Given the description of an element on the screen output the (x, y) to click on. 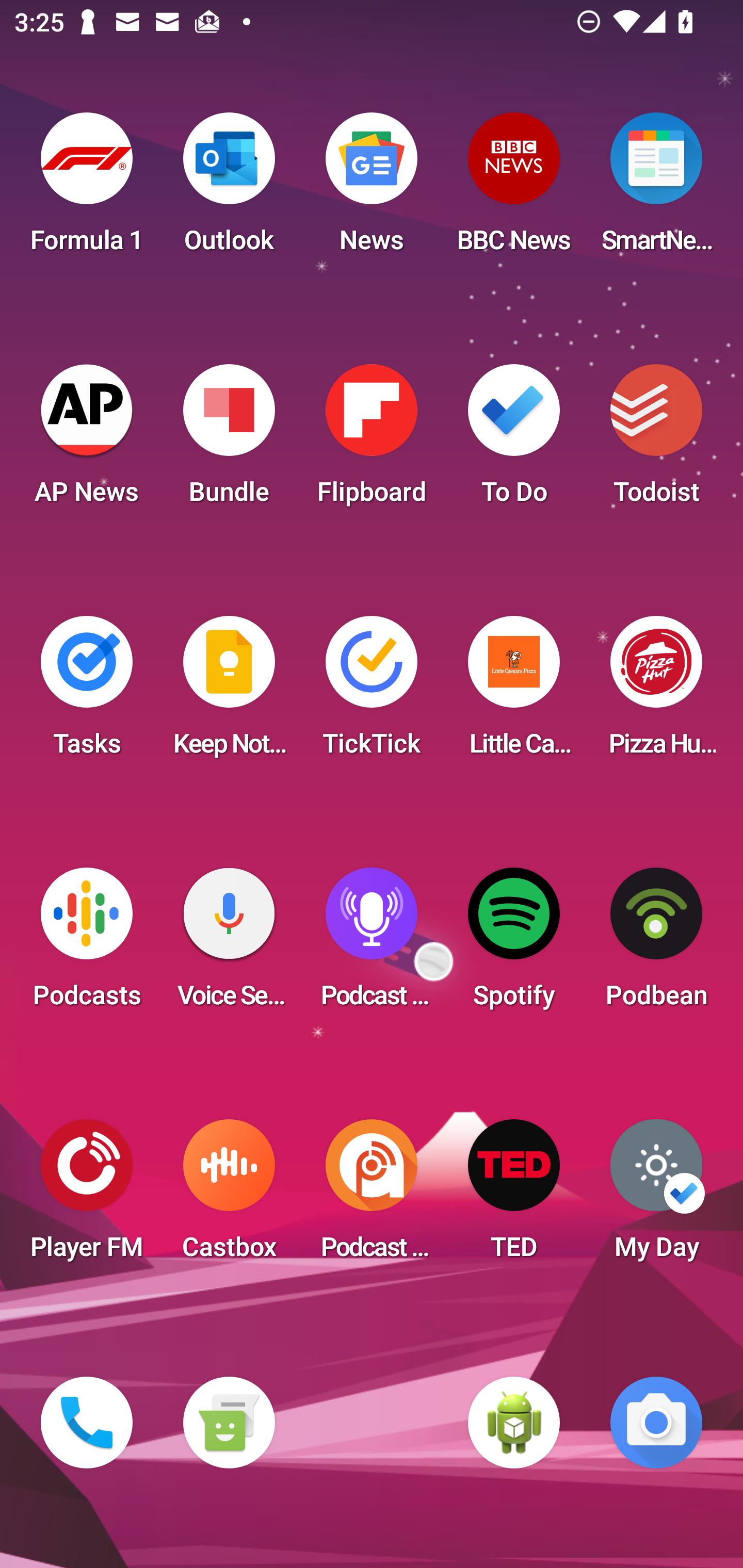
Formula 1 (86, 188)
Outlook (228, 188)
News (371, 188)
BBC News (513, 188)
SmartNews (656, 188)
AP News (86, 440)
Bundle (228, 440)
Flipboard (371, 440)
To Do (513, 440)
Todoist (656, 440)
Tasks (86, 692)
Keep Notes (228, 692)
TickTick (371, 692)
Little Caesars Pizza (513, 692)
Pizza Hut HK & Macau (656, 692)
Podcasts (86, 943)
Voice Search (228, 943)
Podcast Player (371, 943)
Spotify (513, 943)
Podbean (656, 943)
Player FM (86, 1195)
Castbox (228, 1195)
Podcast Addict (371, 1195)
TED (513, 1195)
My Day (656, 1195)
Phone (86, 1422)
Messaging (228, 1422)
WebView Browser Tester (513, 1422)
Camera (656, 1422)
